Given the description of an element on the screen output the (x, y) to click on. 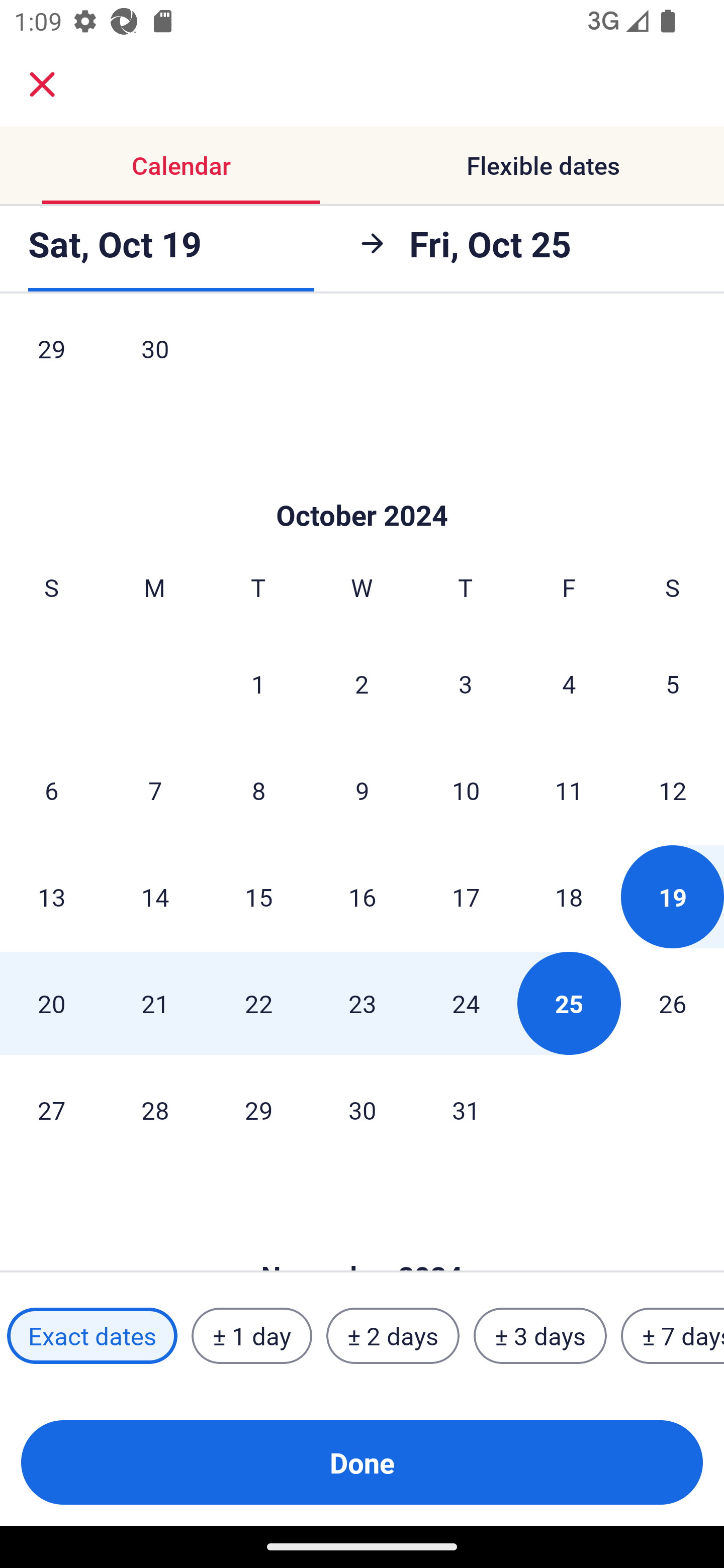
close. (42, 84)
Flexible dates (542, 164)
29 Sunday, September 29, 2024 (51, 360)
30 Monday, September 30, 2024 (155, 360)
Skip to Done (362, 485)
1 Tuesday, October 1, 2024 (257, 683)
2 Wednesday, October 2, 2024 (361, 683)
3 Thursday, October 3, 2024 (465, 683)
4 Friday, October 4, 2024 (569, 683)
5 Saturday, October 5, 2024 (672, 683)
6 Sunday, October 6, 2024 (51, 790)
7 Monday, October 7, 2024 (155, 790)
8 Tuesday, October 8, 2024 (258, 790)
9 Wednesday, October 9, 2024 (362, 790)
10 Thursday, October 10, 2024 (465, 790)
11 Friday, October 11, 2024 (569, 790)
12 Saturday, October 12, 2024 (672, 790)
13 Sunday, October 13, 2024 (51, 896)
14 Monday, October 14, 2024 (155, 896)
15 Tuesday, October 15, 2024 (258, 896)
16 Wednesday, October 16, 2024 (362, 896)
17 Thursday, October 17, 2024 (465, 896)
18 Friday, October 18, 2024 (569, 896)
26 Saturday, October 26, 2024 (672, 1003)
27 Sunday, October 27, 2024 (51, 1109)
28 Monday, October 28, 2024 (155, 1109)
29 Tuesday, October 29, 2024 (258, 1109)
30 Wednesday, October 30, 2024 (362, 1109)
31 Thursday, October 31, 2024 (465, 1109)
Exact dates (92, 1335)
± 1 day (251, 1335)
± 2 days (392, 1335)
± 3 days (539, 1335)
± 7 days (672, 1335)
Done (361, 1462)
